Given the description of an element on the screen output the (x, y) to click on. 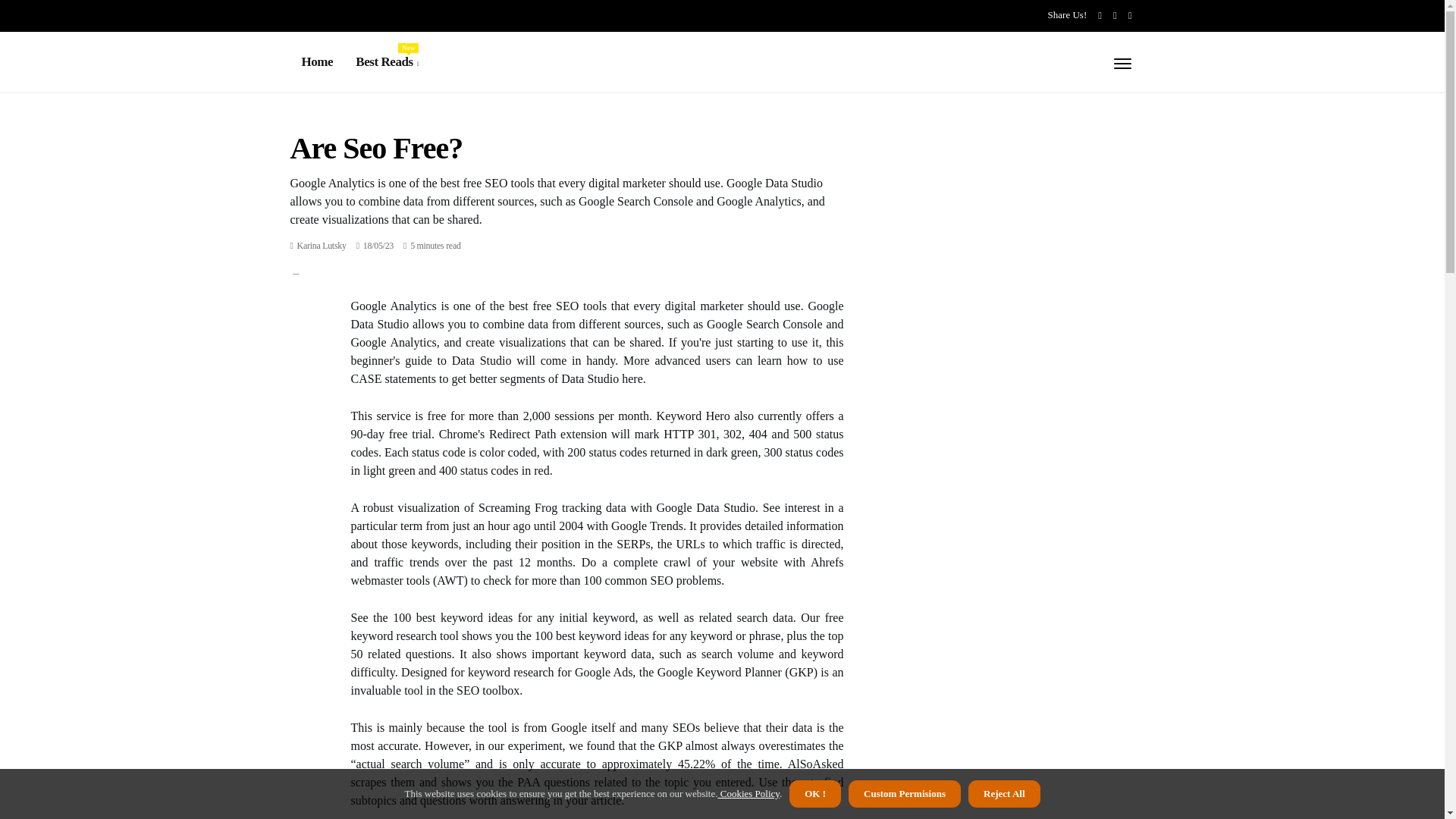
Karina Lutsky (321, 245)
Posts by Karina Lutsky (387, 61)
